Given the description of an element on the screen output the (x, y) to click on. 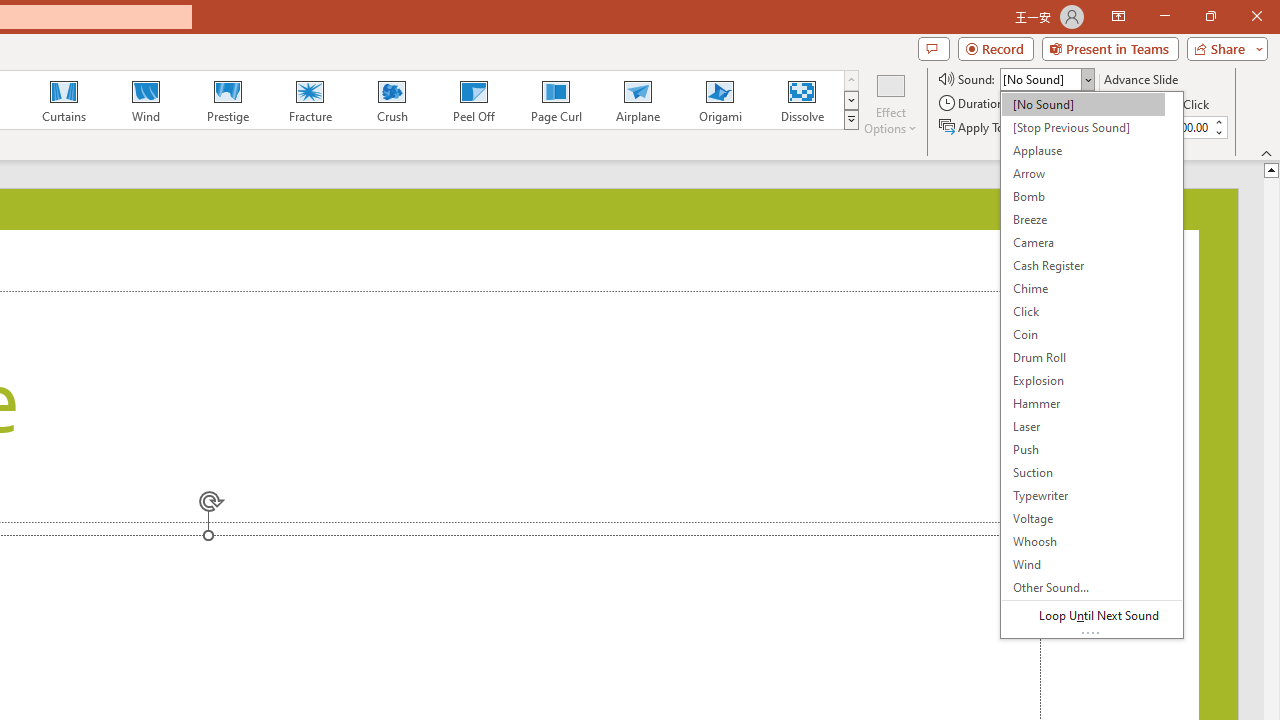
Sound (1046, 78)
Curtains (63, 100)
Transition Effects (850, 120)
Page Curl (555, 100)
Dissolve (802, 100)
Wind (145, 100)
